Given the description of an element on the screen output the (x, y) to click on. 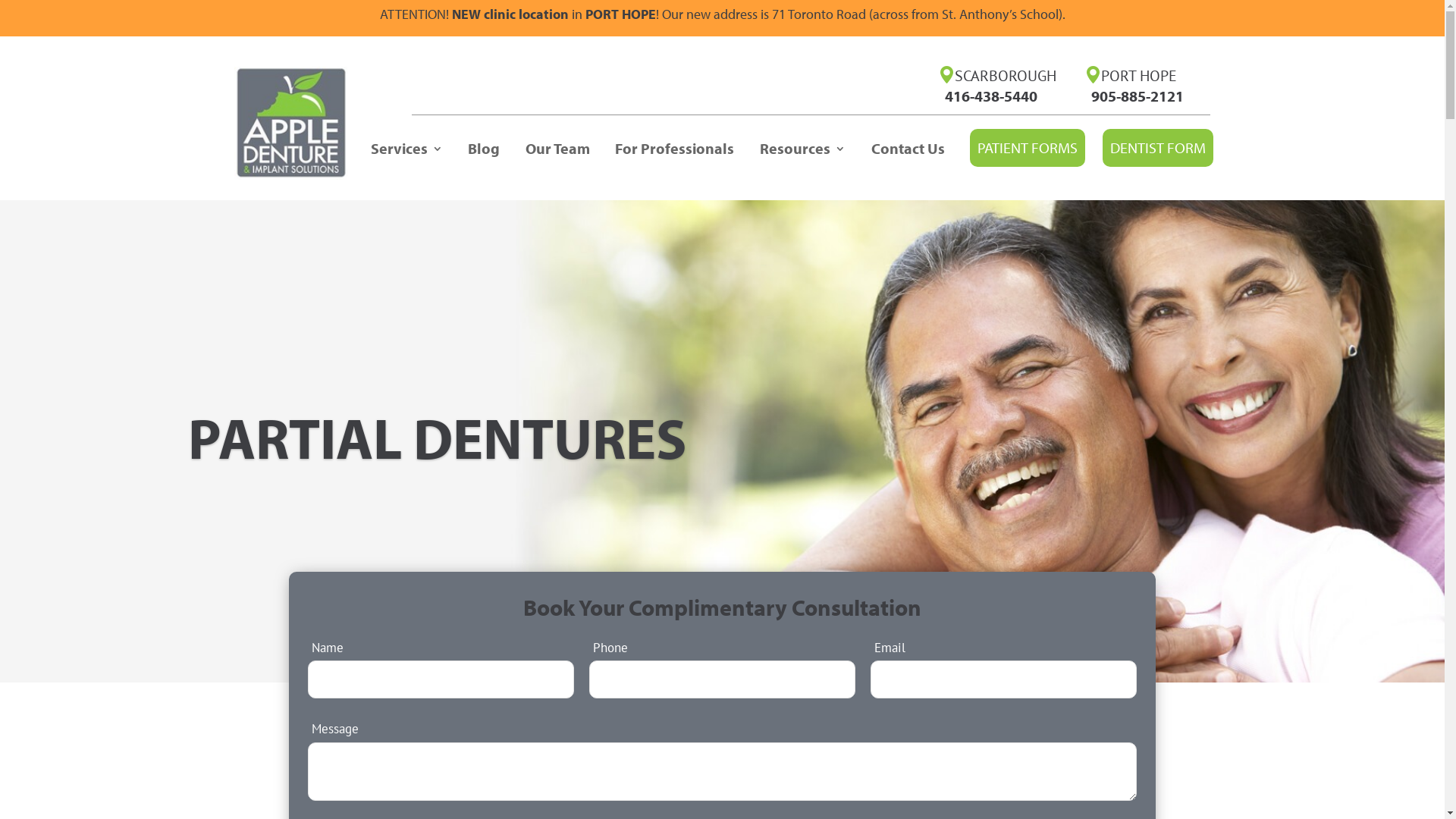
For Professionals Element type: text (674, 154)
Contact Us Element type: text (907, 154)
Services Element type: text (406, 154)
DENTIST FORM Element type: text (1157, 147)
Bitmap (1) Element type: hover (291, 122)
Our Team Element type: text (557, 154)
416-438-5440 Element type: text (991, 96)
905-885-2121 Element type: text (1136, 96)
Blog Element type: text (483, 154)
PATIENT FORMS Element type: text (1027, 147)
Resources Element type: text (802, 154)
